Given the description of an element on the screen output the (x, y) to click on. 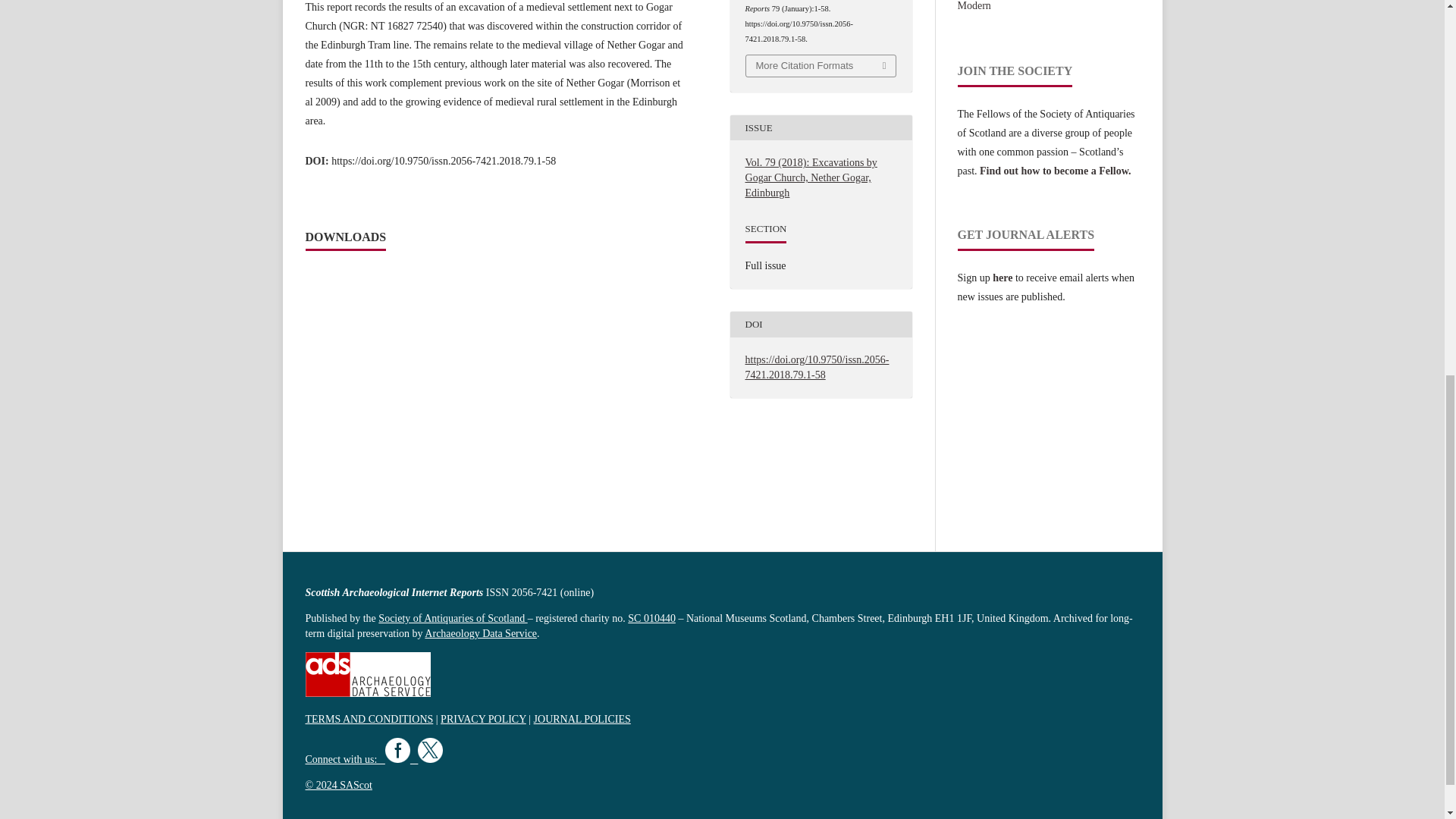
More Citation Formats (820, 65)
Privacy Policy (483, 718)
ADS logo (366, 693)
Modern (973, 5)
